Given the description of an element on the screen output the (x, y) to click on. 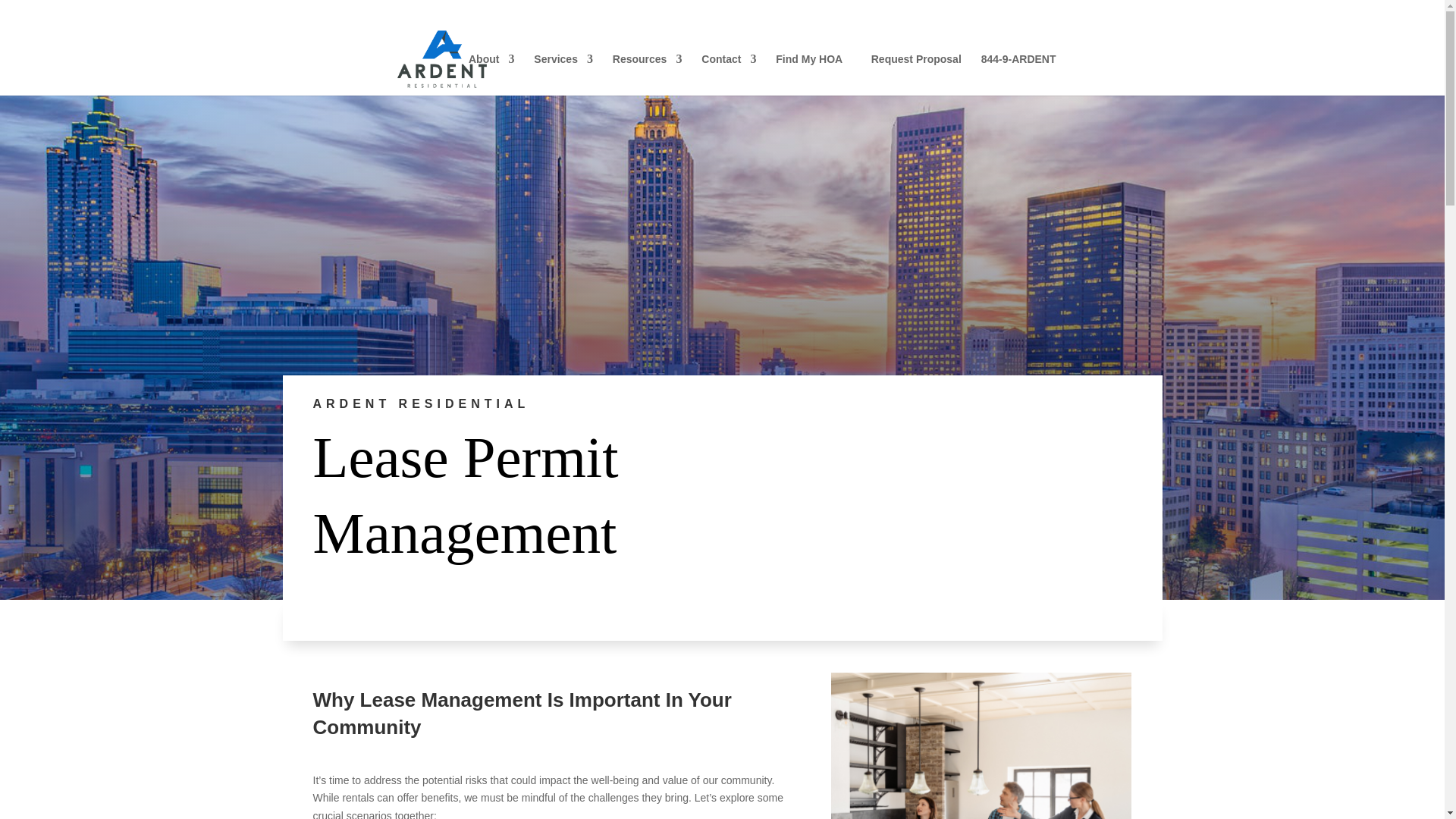
Contact (728, 74)
About (490, 74)
Resources (647, 74)
Mart-Production-03-400 (981, 745)
Services (563, 74)
